Given the description of an element on the screen output the (x, y) to click on. 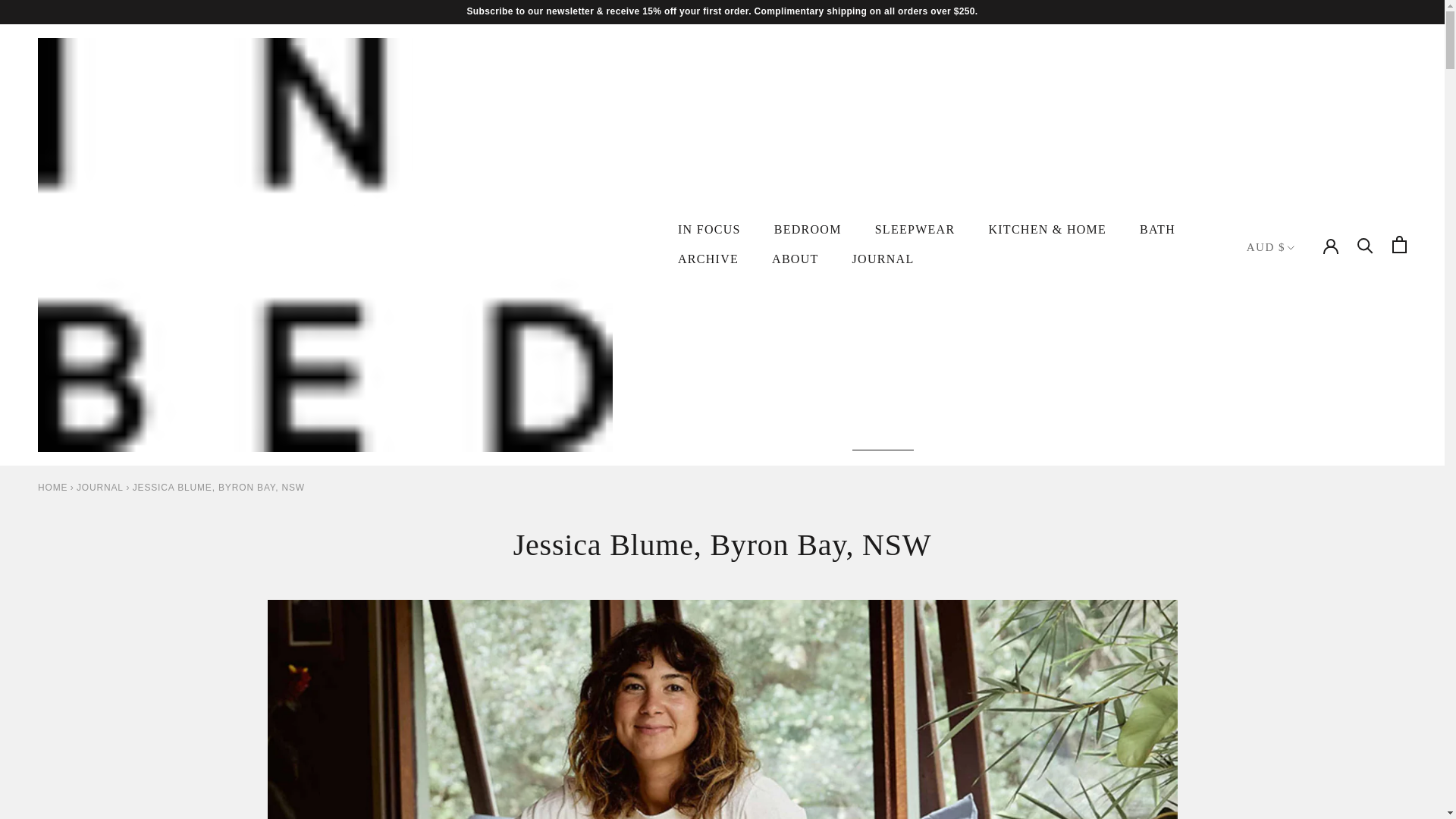
Home (51, 487)
